Given the description of an element on the screen output the (x, y) to click on. 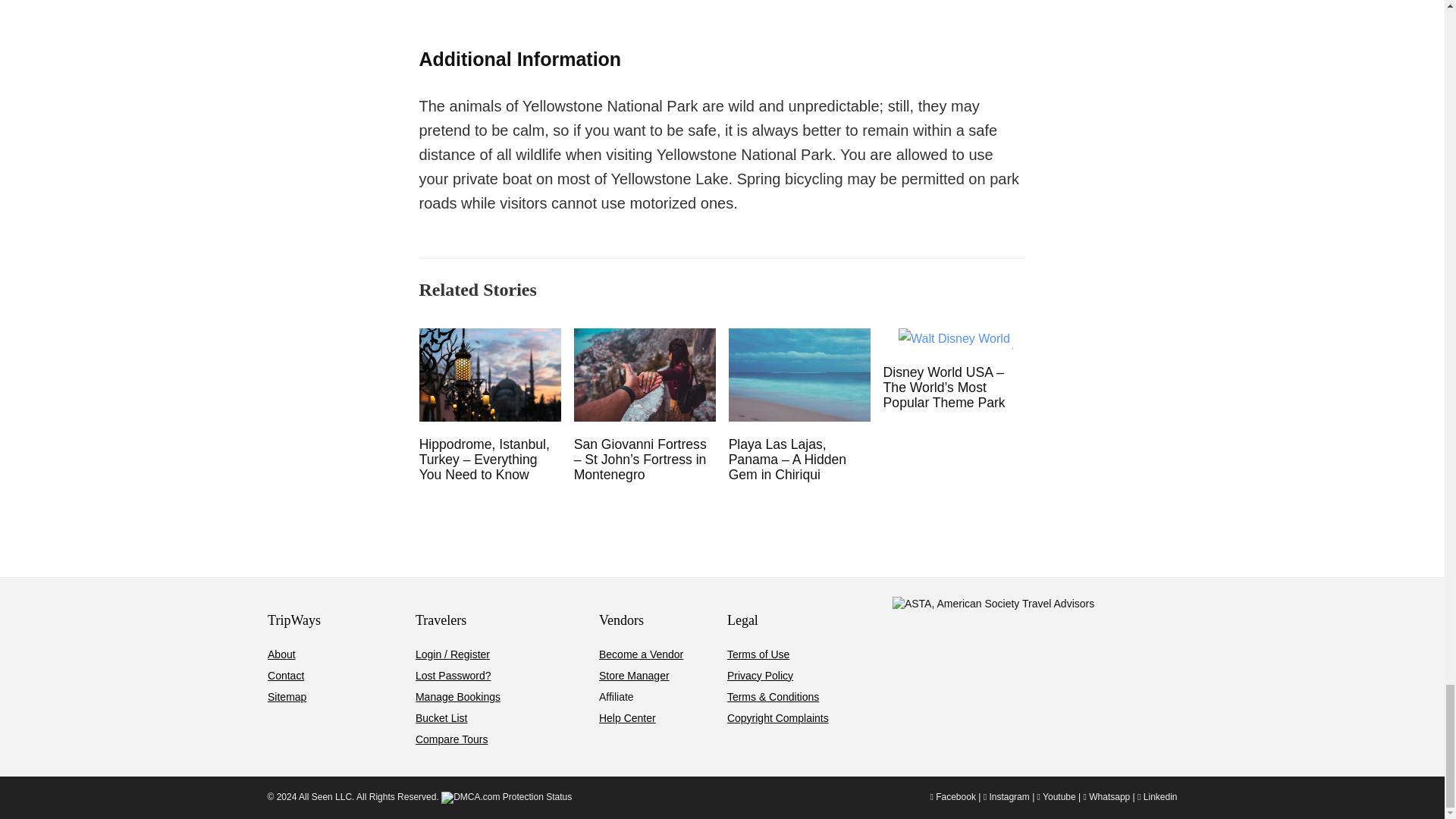
DMCA.com Protection Status (506, 796)
